Given the description of an element on the screen output the (x, y) to click on. 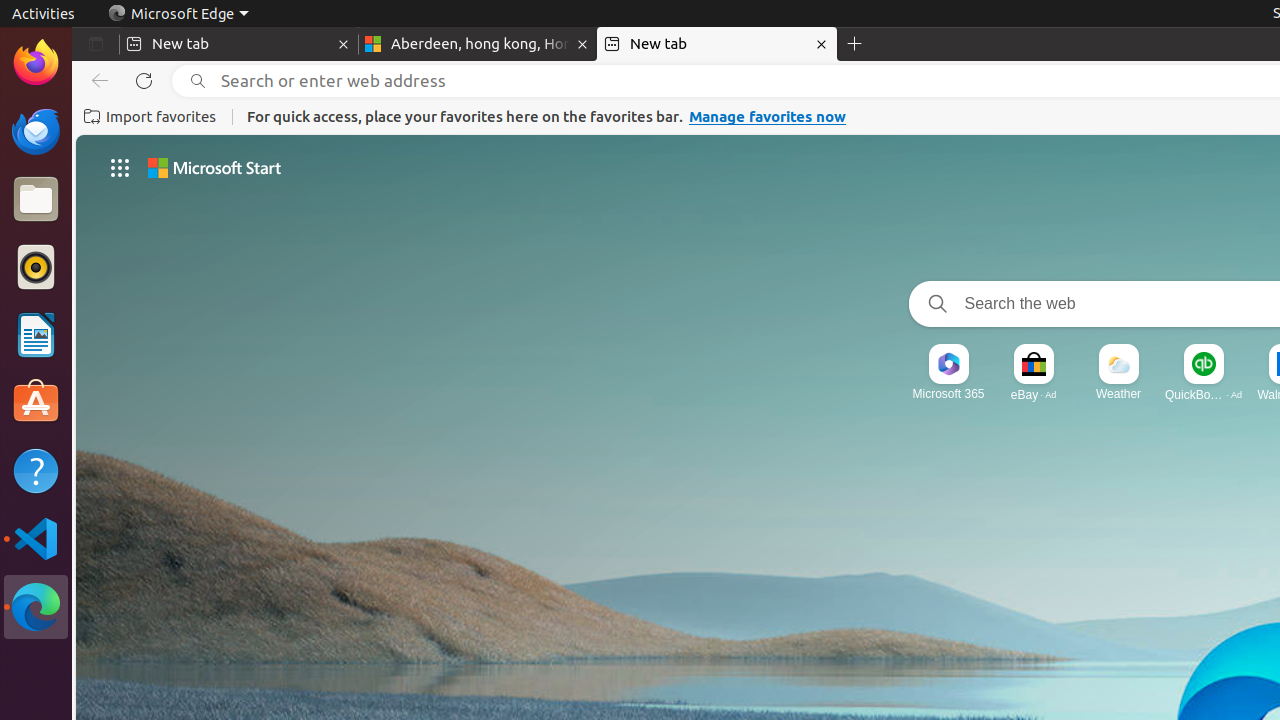
Import favorites Element type: push-button (150, 117)
Back Element type: push-button (96, 81)
Help Element type: push-button (36, 470)
App launcher Element type: push-button (120, 168)
New Tab Element type: push-button (855, 44)
